Given the description of an element on the screen output the (x, y) to click on. 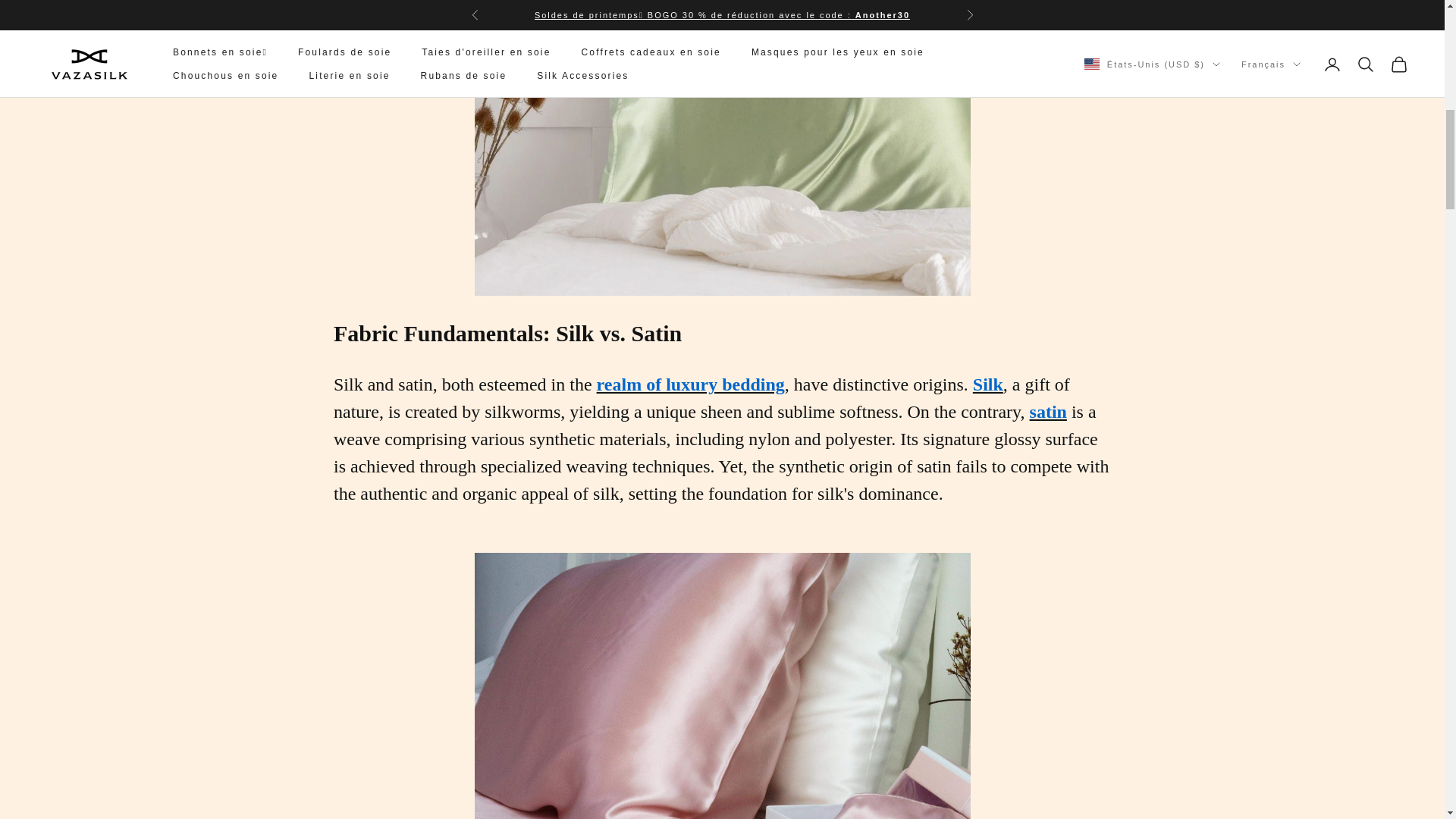
VAZA Silk Sleep Mask (722, 685)
